Given the description of an element on the screen output the (x, y) to click on. 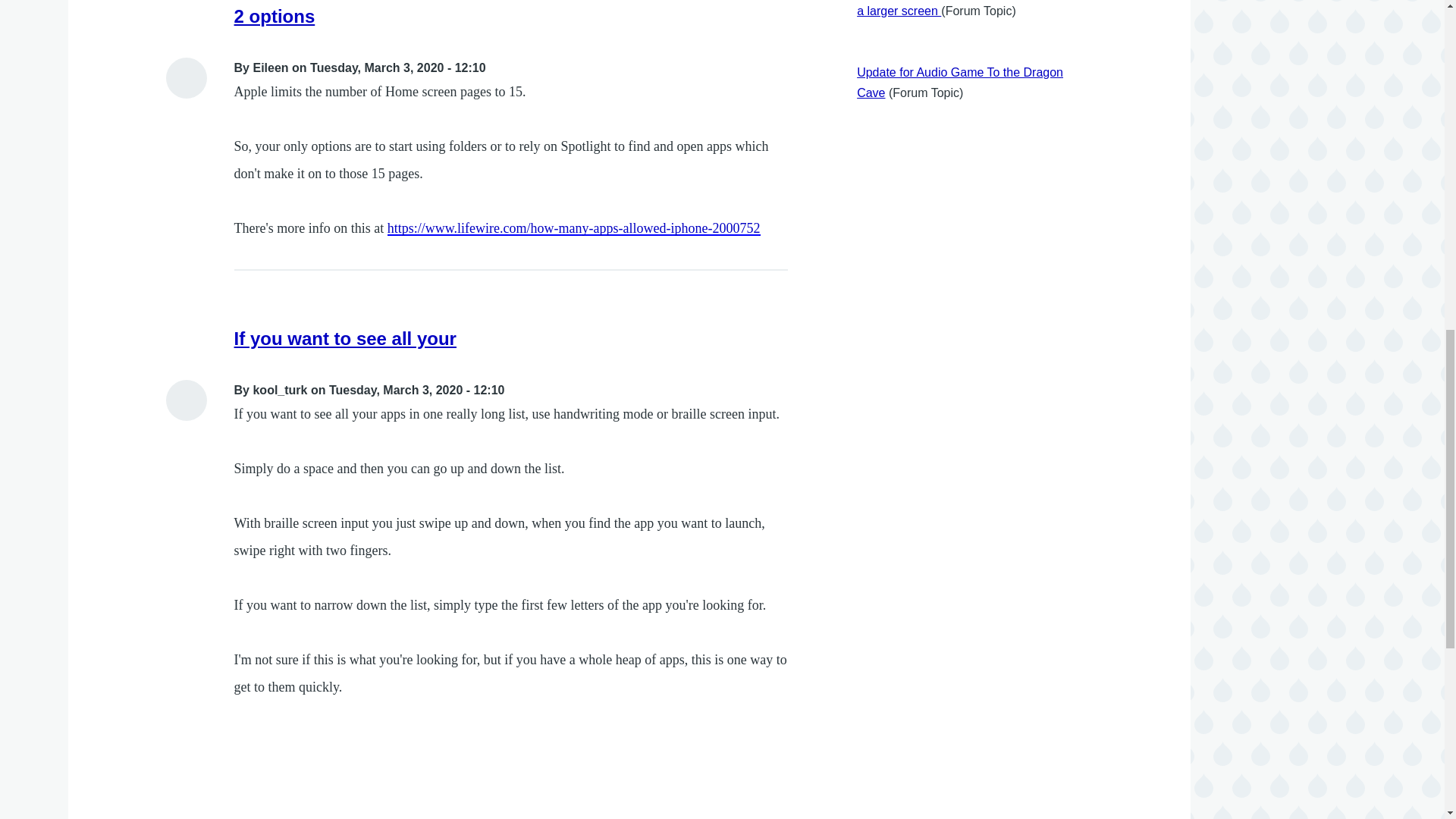
2 options (274, 15)
If you want to see all your (345, 338)
navigating an ipad with voiceover and a larger screen (958, 8)
Update for Audio Game To the Dragon Cave (959, 82)
